Given the description of an element on the screen output the (x, y) to click on. 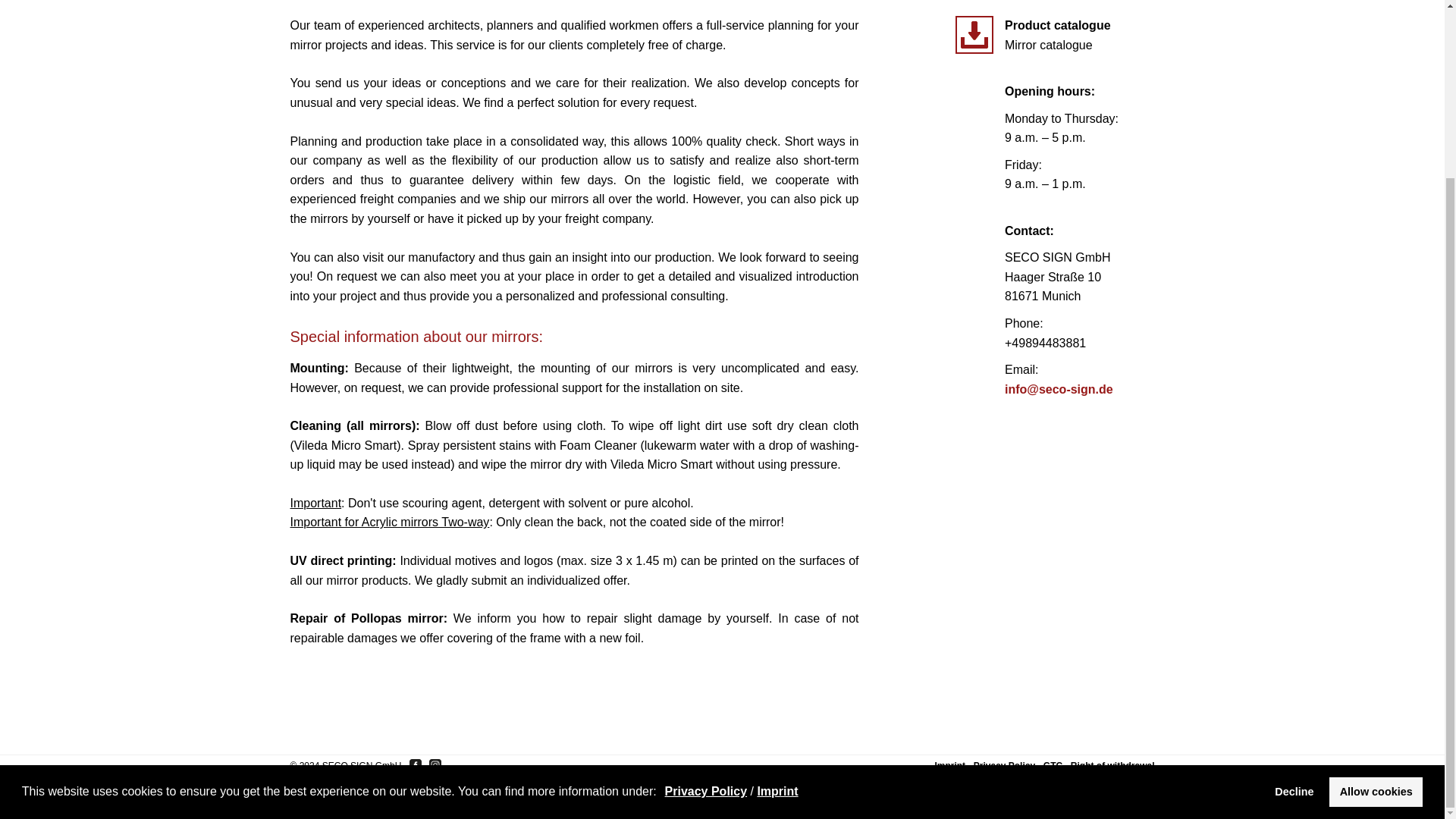
Allow cookies (1375, 573)
Facebook (415, 765)
Instagram (435, 765)
Decline (1294, 573)
GTC (1052, 765)
Privacy Policy (1004, 765)
Instagram (435, 765)
Privacy Policy (706, 573)
Facebook (415, 765)
Imprint (777, 573)
